Given the description of an element on the screen output the (x, y) to click on. 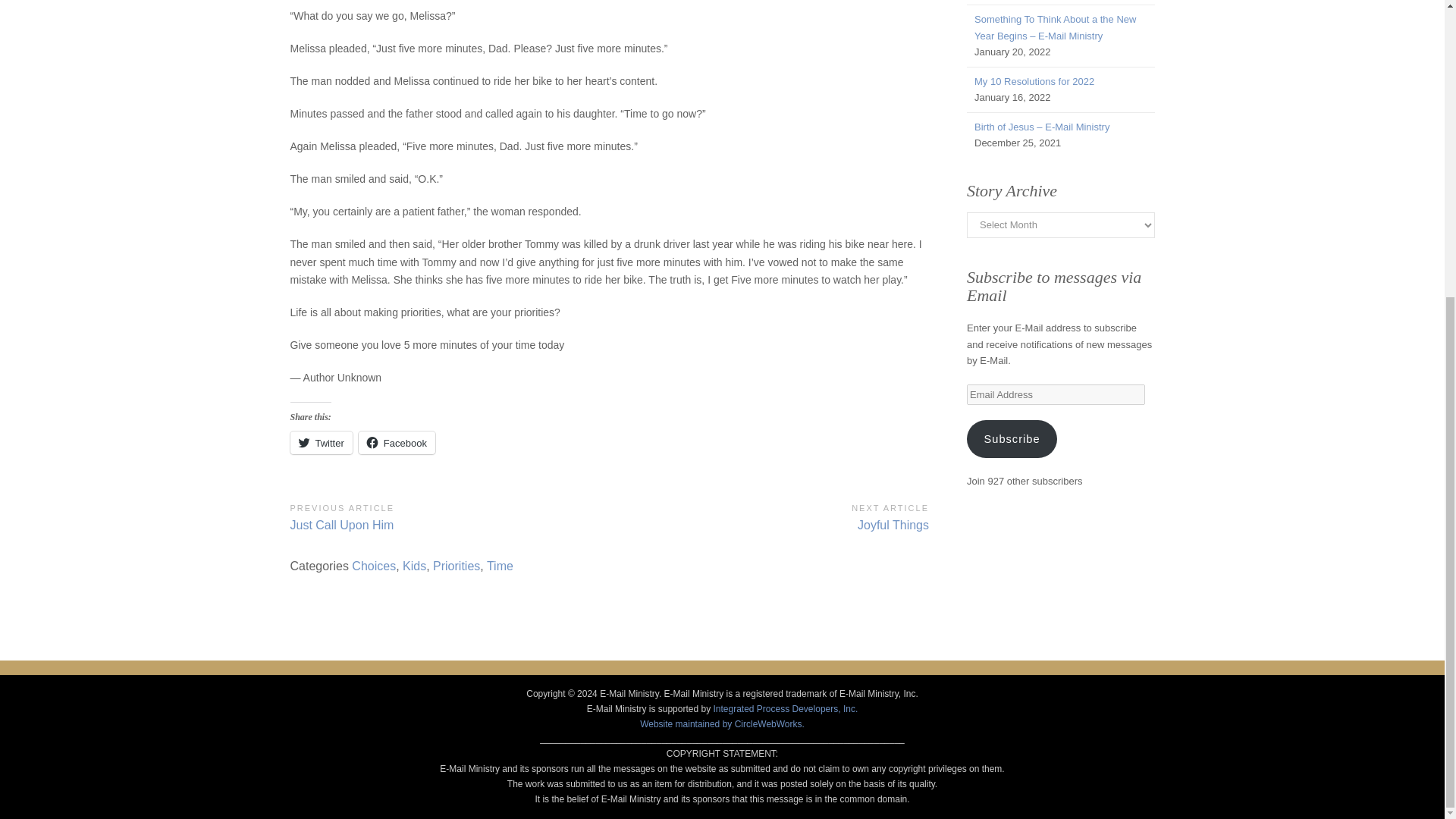
My 10 Resolutions for 2022 (1034, 81)
Click to share on Twitter (320, 442)
Priorities (456, 565)
Website maintained by CircleWebWorks. (722, 724)
Choices (374, 565)
Kids (448, 515)
Integrated Process Developers, Inc. (769, 515)
Click to share on Facebook (414, 565)
Facebook (785, 708)
Twitter (396, 442)
Time (396, 442)
Subscribe (320, 442)
